Given the description of an element on the screen output the (x, y) to click on. 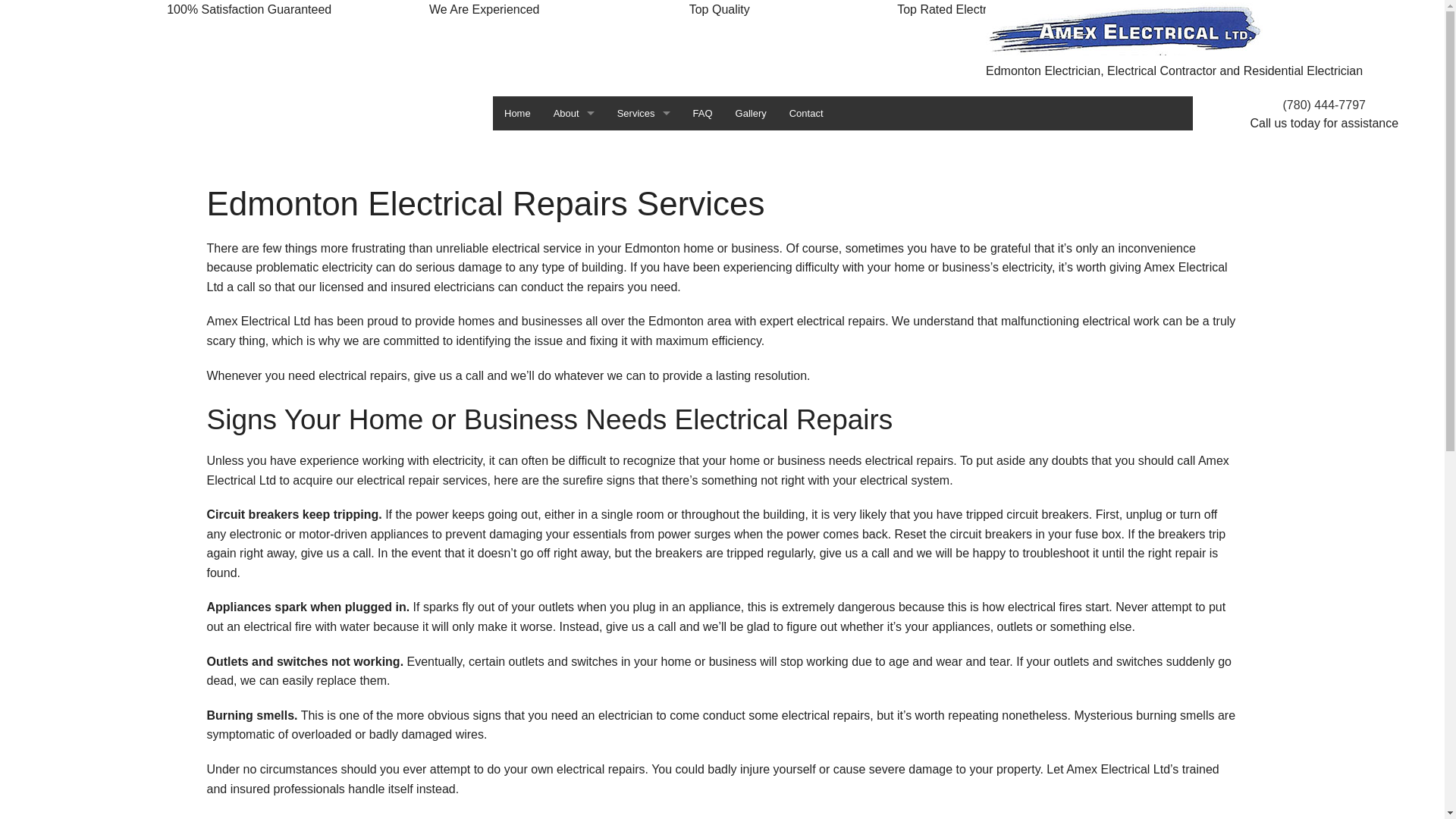
Electrical Contractor Element type: text (643, 147)
Surge Protection Element type: text (643, 693)
Gallery Element type: text (751, 113)
Electrical Retrofitting Element type: text (643, 488)
Appliance Installation Element type: text (643, 386)
Landscape Lighting Element type: text (643, 283)
New Construction Electrical Element type: text (643, 352)
Services Element type: text (643, 113)
Contact Element type: text (806, 113)
Lighting Electrician Element type: text (643, 591)
Water Heater Installation Element type: text (643, 727)
Service Areas Element type: text (573, 215)
Home Element type: text (517, 113)
Lighting Installation Element type: text (643, 318)
Amex Electrical Ltd Element type: hover (1123, 28)
Emergency Electrician Element type: text (643, 556)
Blog Element type: text (573, 147)
Electrical Inspections Element type: text (643, 181)
Security Lighting Element type: text (643, 795)
Testimonials Element type: text (573, 181)
(780) 444-7797 Element type: text (1324, 104)
In Floor Heating Element type: text (643, 249)
About Element type: text (573, 113)
Water Heater Replacement Element type: text (643, 761)
FAQ Element type: text (702, 113)
Home Automation Element type: text (643, 215)
Standby Generators Element type: text (643, 659)
Electrical Repair Element type: text (643, 454)
Electrician Element type: text (643, 522)
Rewiring Service Element type: text (643, 625)
Electrical Heating Element type: text (643, 420)
